Given the description of an element on the screen output the (x, y) to click on. 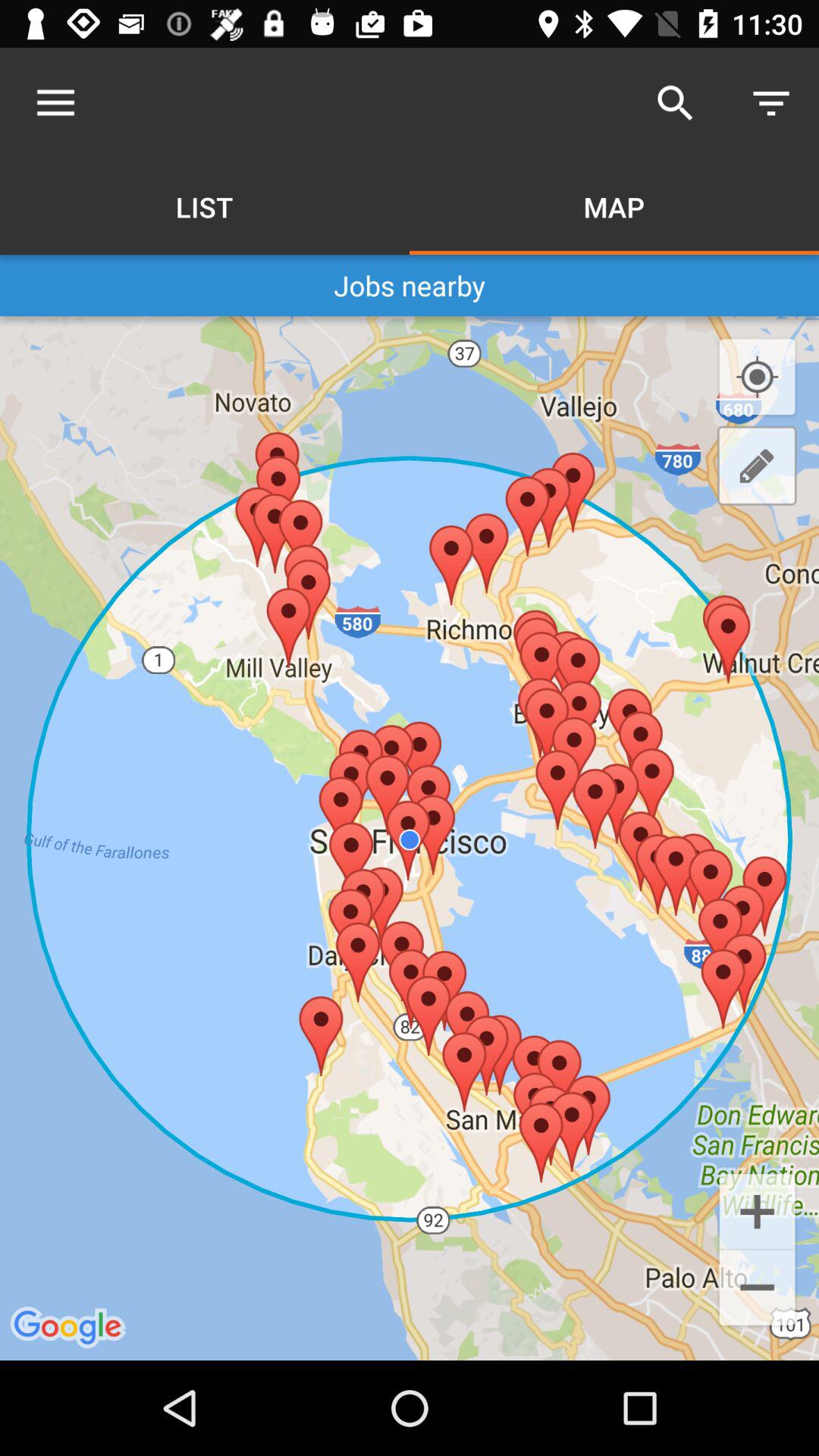
tap the icon above the jobs nearby icon (771, 103)
